Given the description of an element on the screen output the (x, y) to click on. 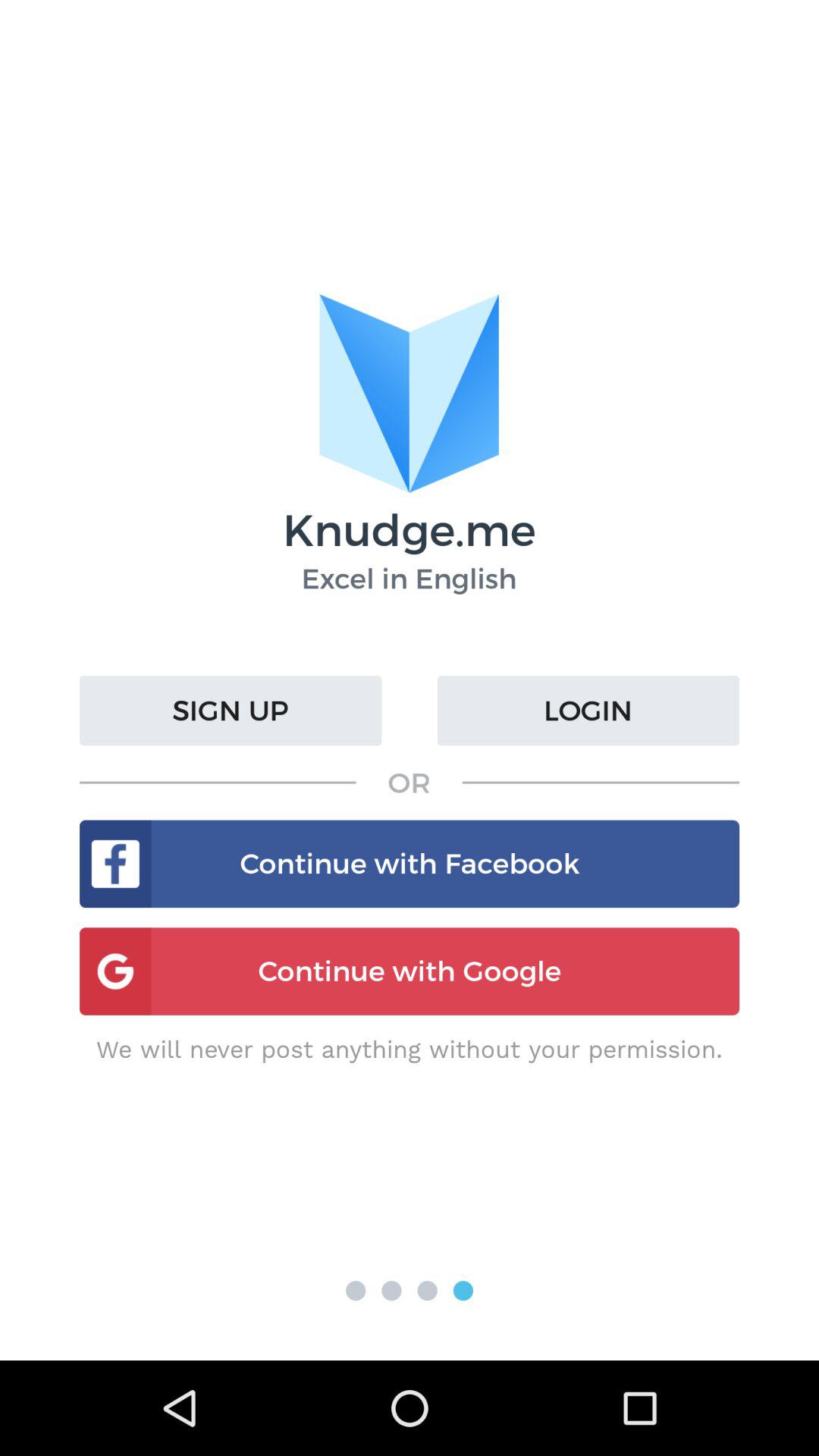
turn off icon below excel in english (230, 710)
